Given the description of an element on the screen output the (x, y) to click on. 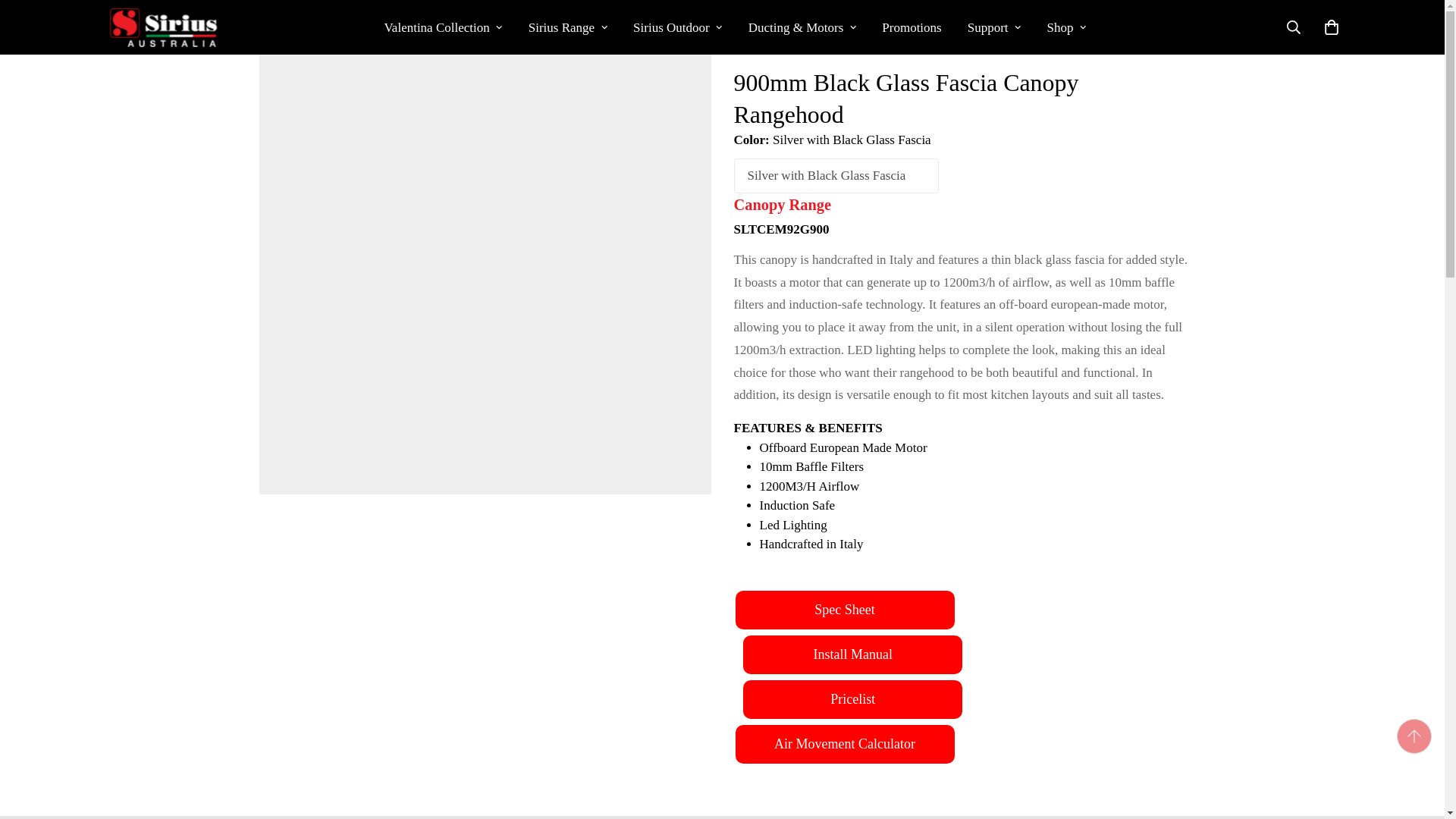
Back to the home page (270, 15)
Promotions (911, 27)
Sirius Outdoor (677, 27)
Sirius Range (567, 27)
Sirius Brand (161, 27)
Valentina Collection (443, 27)
Support (994, 27)
